Given the description of an element on the screen output the (x, y) to click on. 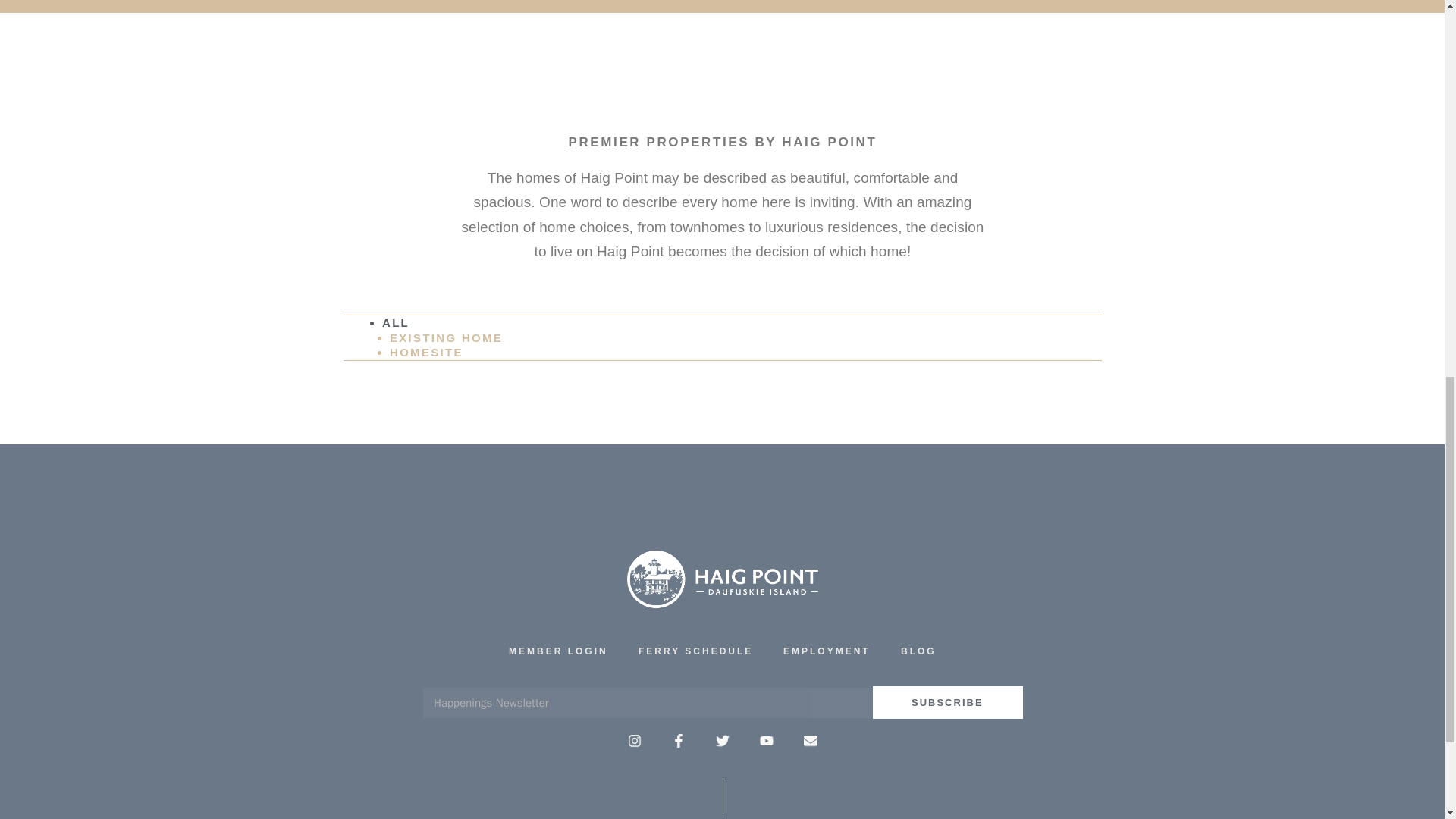
Scroll back to top (1406, 720)
